Given the description of an element on the screen output the (x, y) to click on. 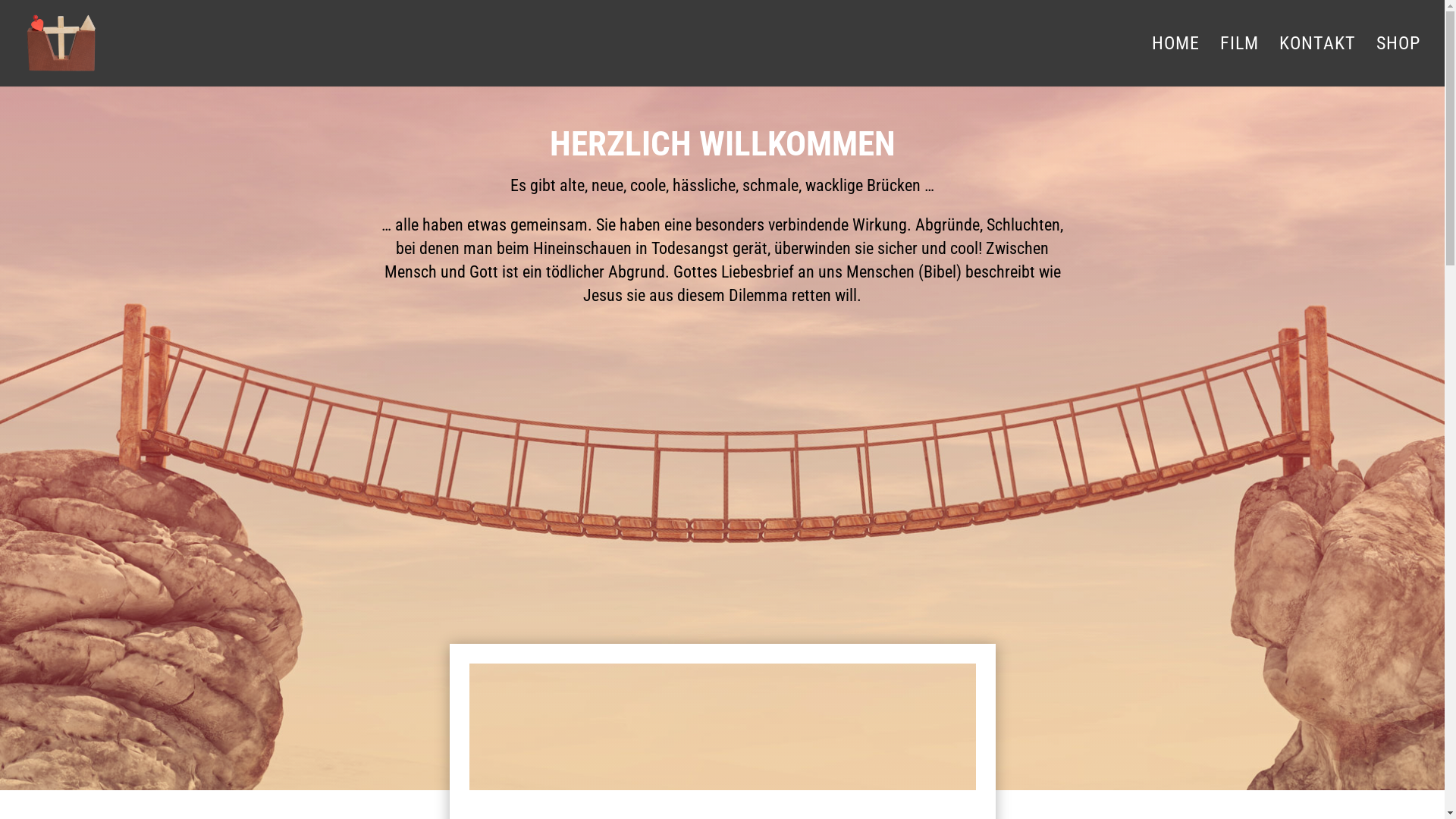
KONTAKT Element type: text (1317, 61)
SHOP Element type: text (1398, 61)
HOME Element type: text (1175, 61)
FILM Element type: text (1239, 61)
